Given the description of an element on the screen output the (x, y) to click on. 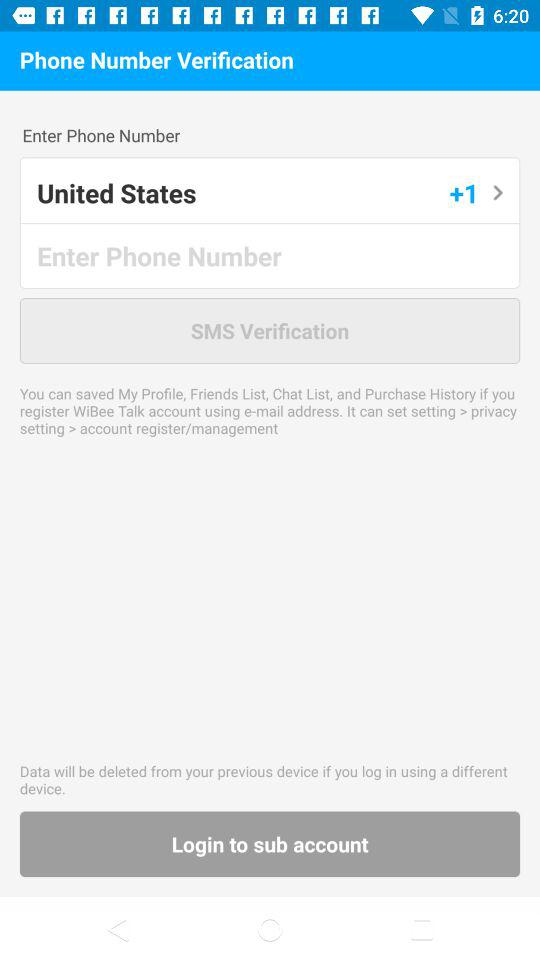
tap item below the data will be icon (269, 844)
